Given the description of an element on the screen output the (x, y) to click on. 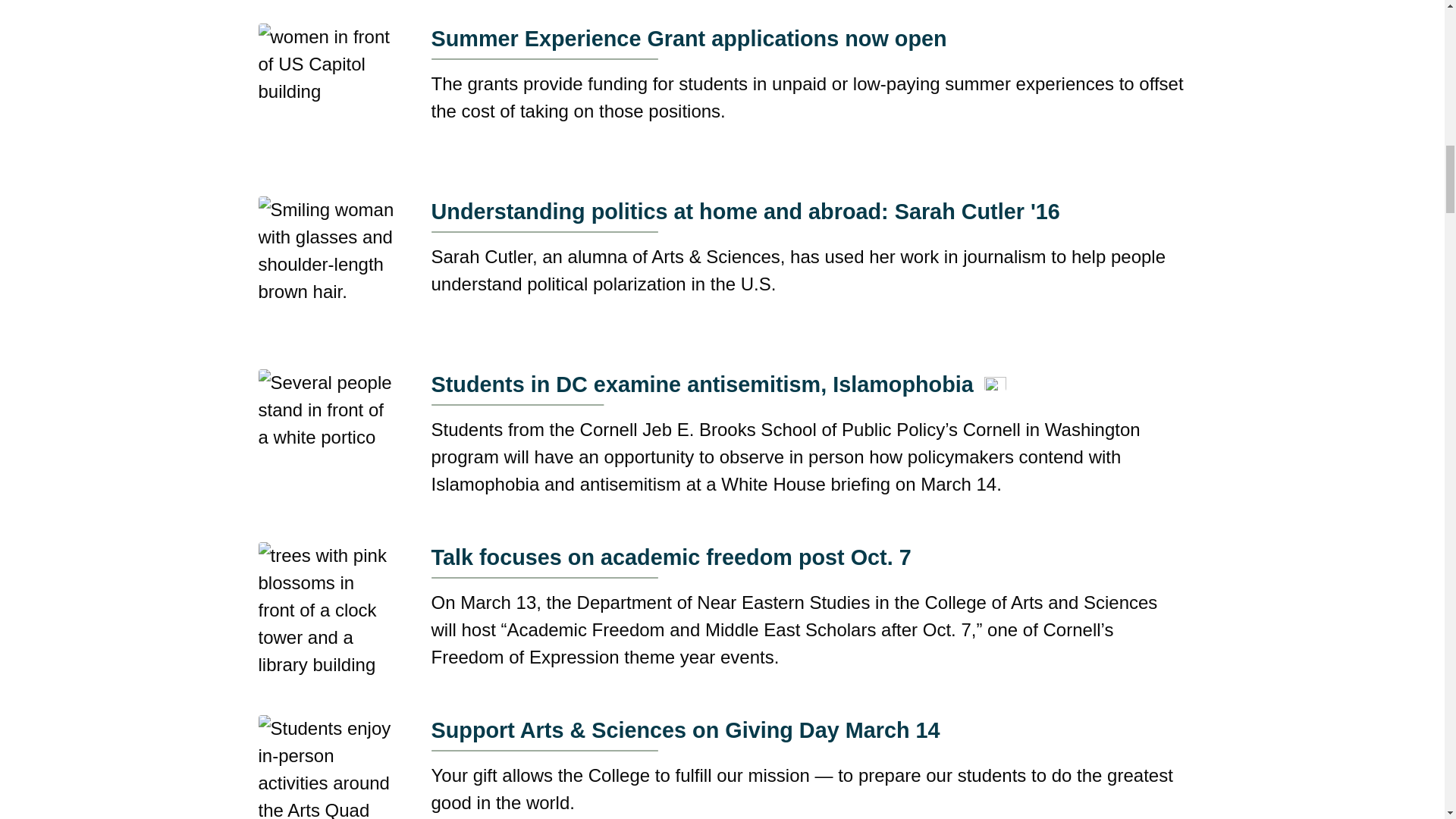
Understanding politics at home and abroad: Sarah Cutler '16 (808, 214)
Summer Experience Grant applications now open (808, 41)
Talk focuses on academic freedom post Oct. 7 (808, 560)
Students in DC examine antisemitism, Islamophobia (718, 387)
